Given the description of an element on the screen output the (x, y) to click on. 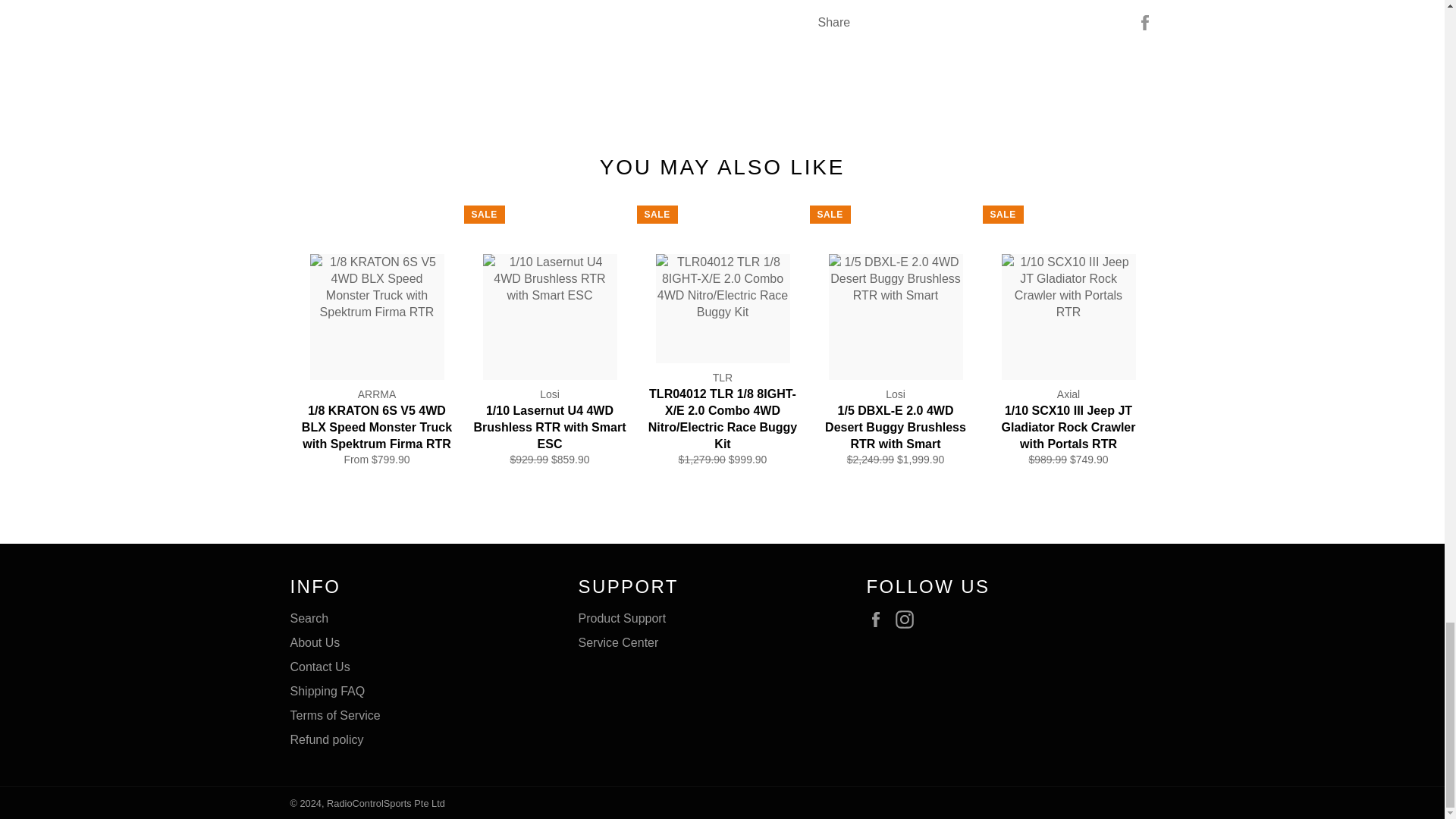
RadioControlSports on Instagram (908, 619)
RadioControlSports on Facebook (878, 619)
Share on Facebook (1144, 21)
